Given the description of an element on the screen output the (x, y) to click on. 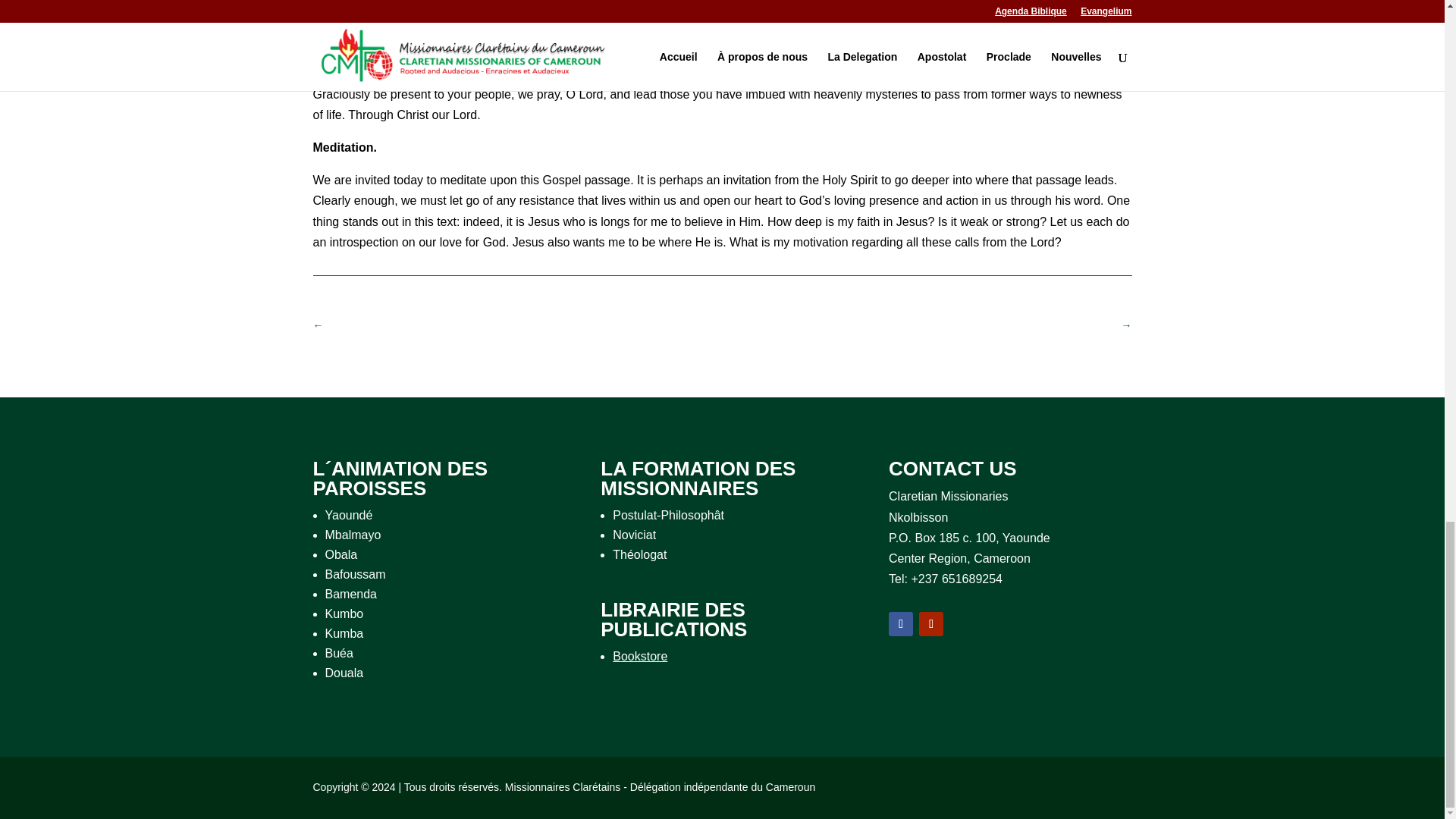
Bookstore (639, 656)
Follow on Youtube (930, 623)
Follow on Facebook (900, 623)
